Given the description of an element on the screen output the (x, y) to click on. 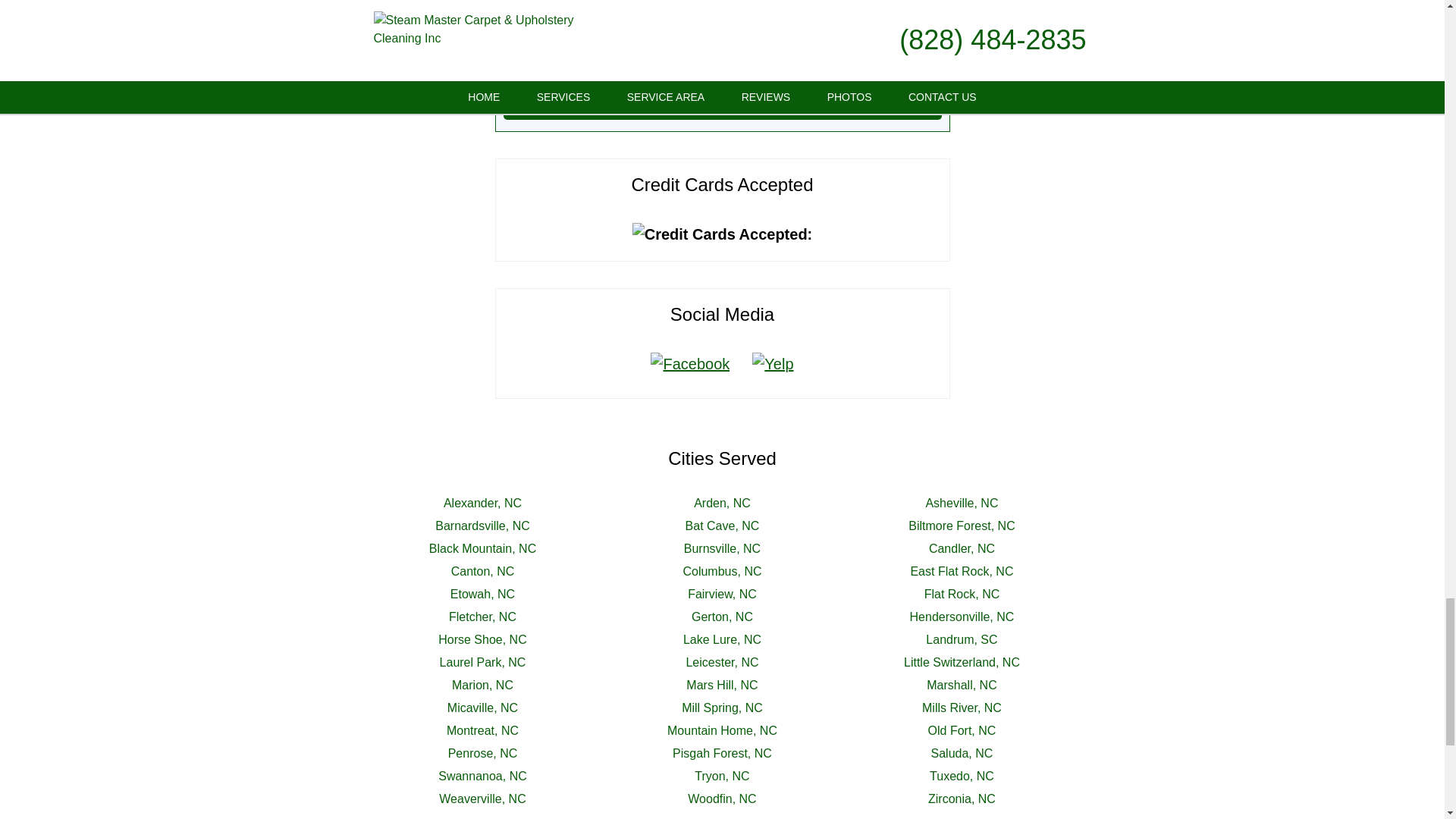
Facebook (690, 363)
Bat Cave, NC (722, 525)
Yelp (773, 363)
Barnardsville, NC (482, 525)
Biltmore Forest, NC (961, 525)
Alexander, NC (482, 502)
Submit (722, 100)
Asheville, NC (960, 502)
Arden, NC (722, 502)
Black Mountain, NC (482, 548)
